Given the description of an element on the screen output the (x, y) to click on. 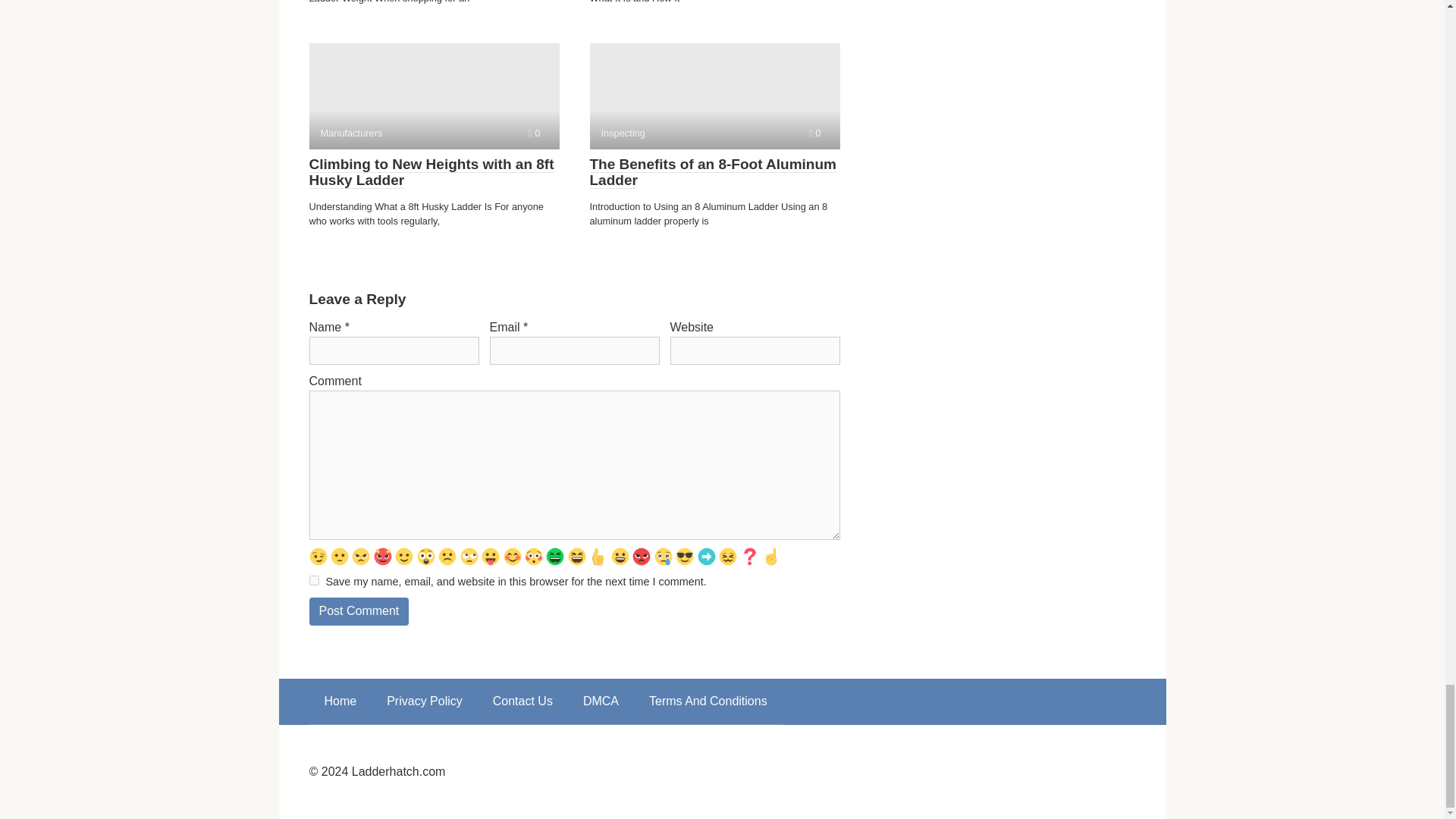
The Benefits of an 8-Foot Aluminum Ladder (712, 172)
Post Comment (714, 96)
Climbing to New Heights with an 8ft Husky Ladder (358, 611)
yes (431, 172)
Post Comment (313, 580)
Comments (358, 611)
Comments (534, 132)
